Given the description of an element on the screen output the (x, y) to click on. 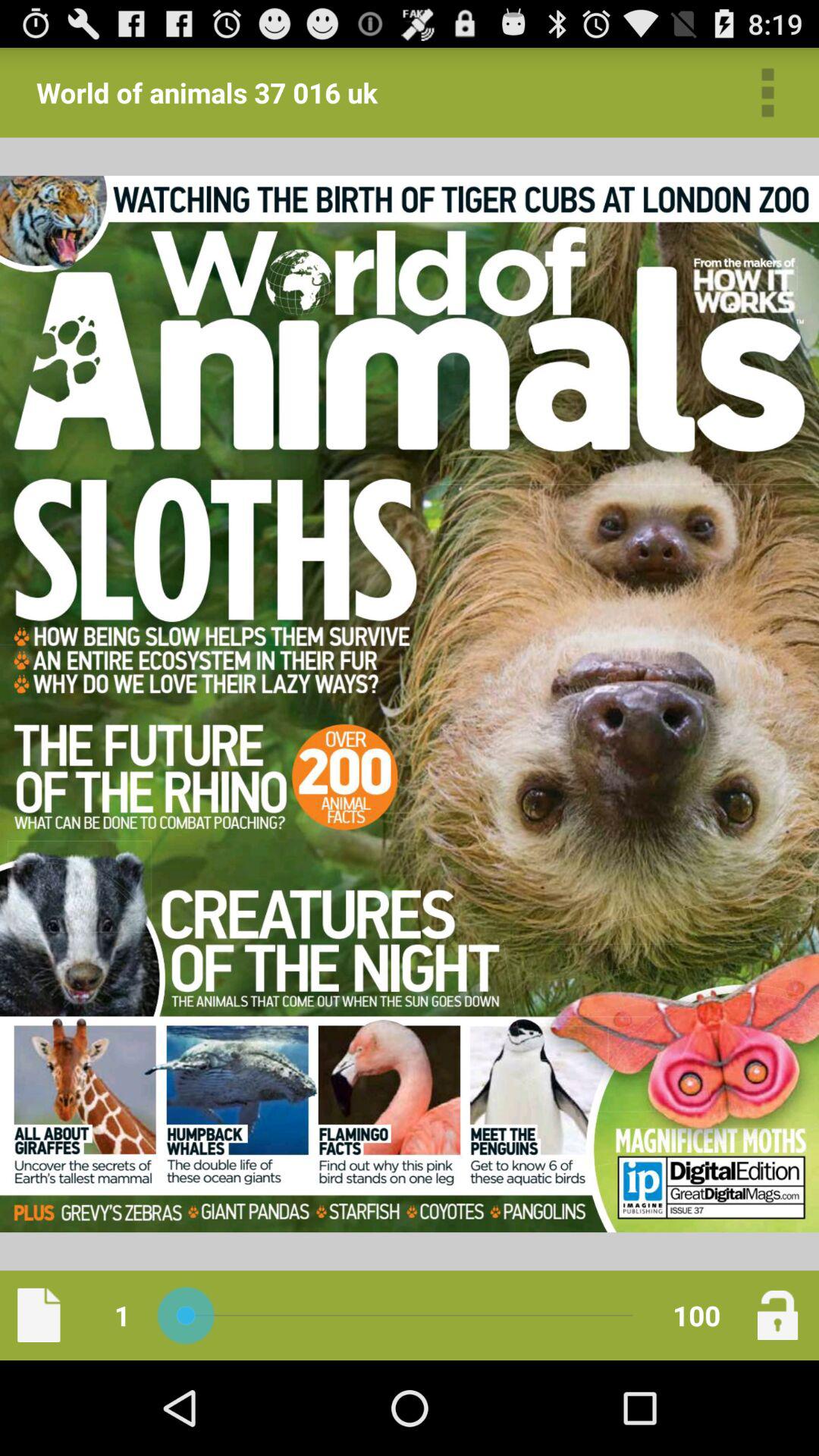
open menu (767, 92)
